Given the description of an element on the screen output the (x, y) to click on. 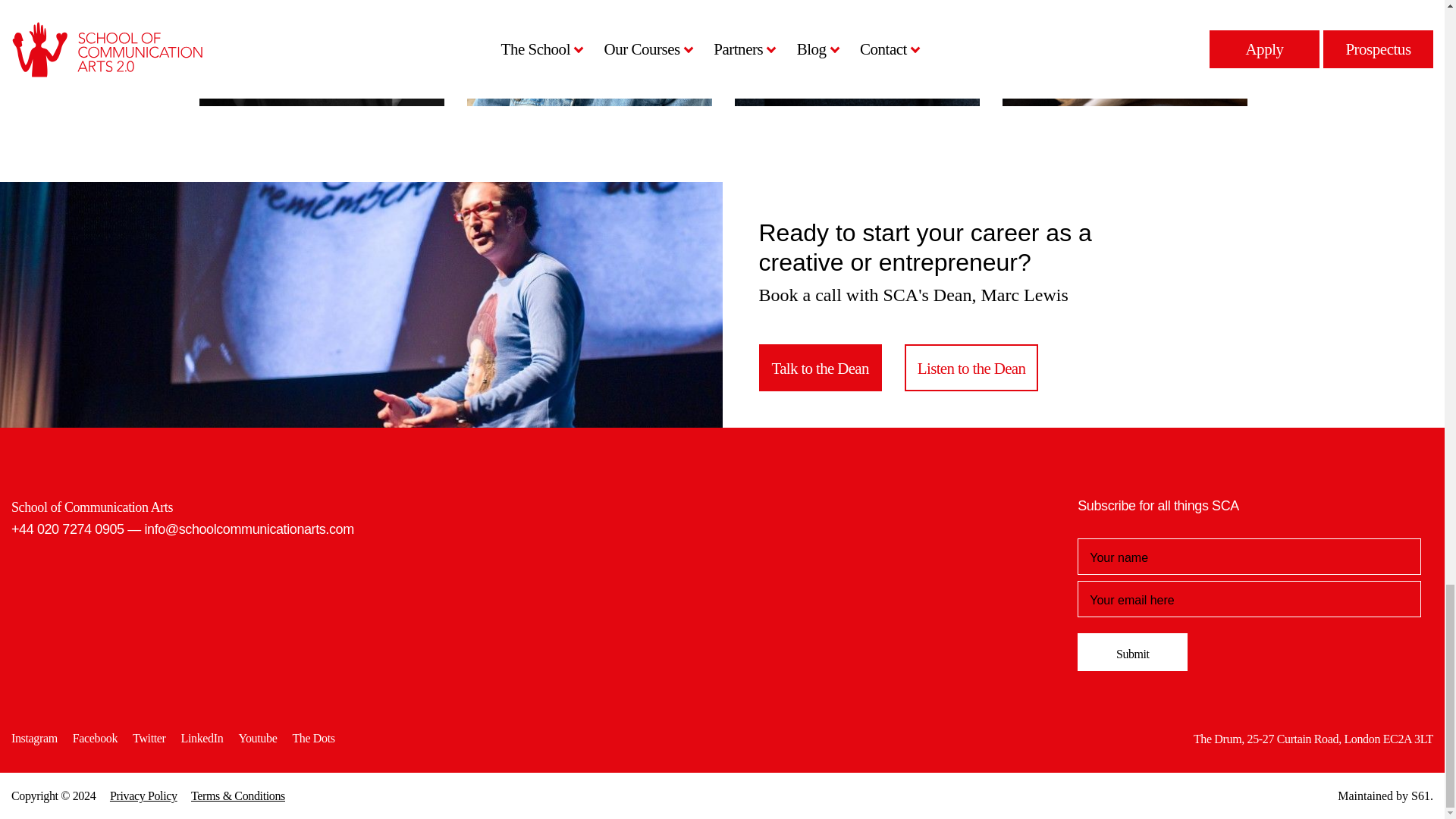
Submit (1132, 651)
